Given the description of an element on the screen output the (x, y) to click on. 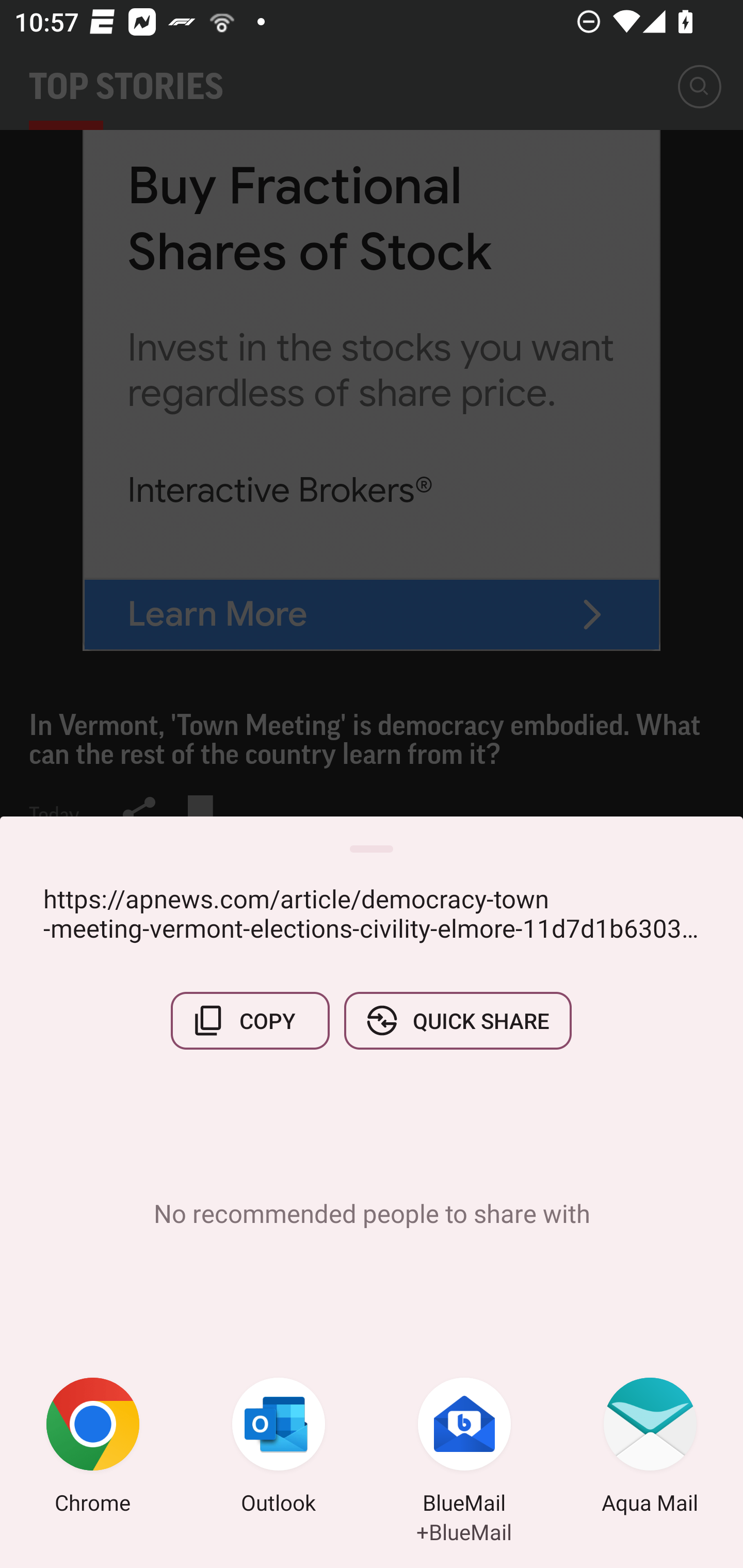
COPY (249, 1020)
QUICK SHARE (457, 1020)
Chrome (92, 1448)
Outlook (278, 1448)
BlueMail +BlueMail (464, 1448)
Aqua Mail (650, 1448)
